Given the description of an element on the screen output the (x, y) to click on. 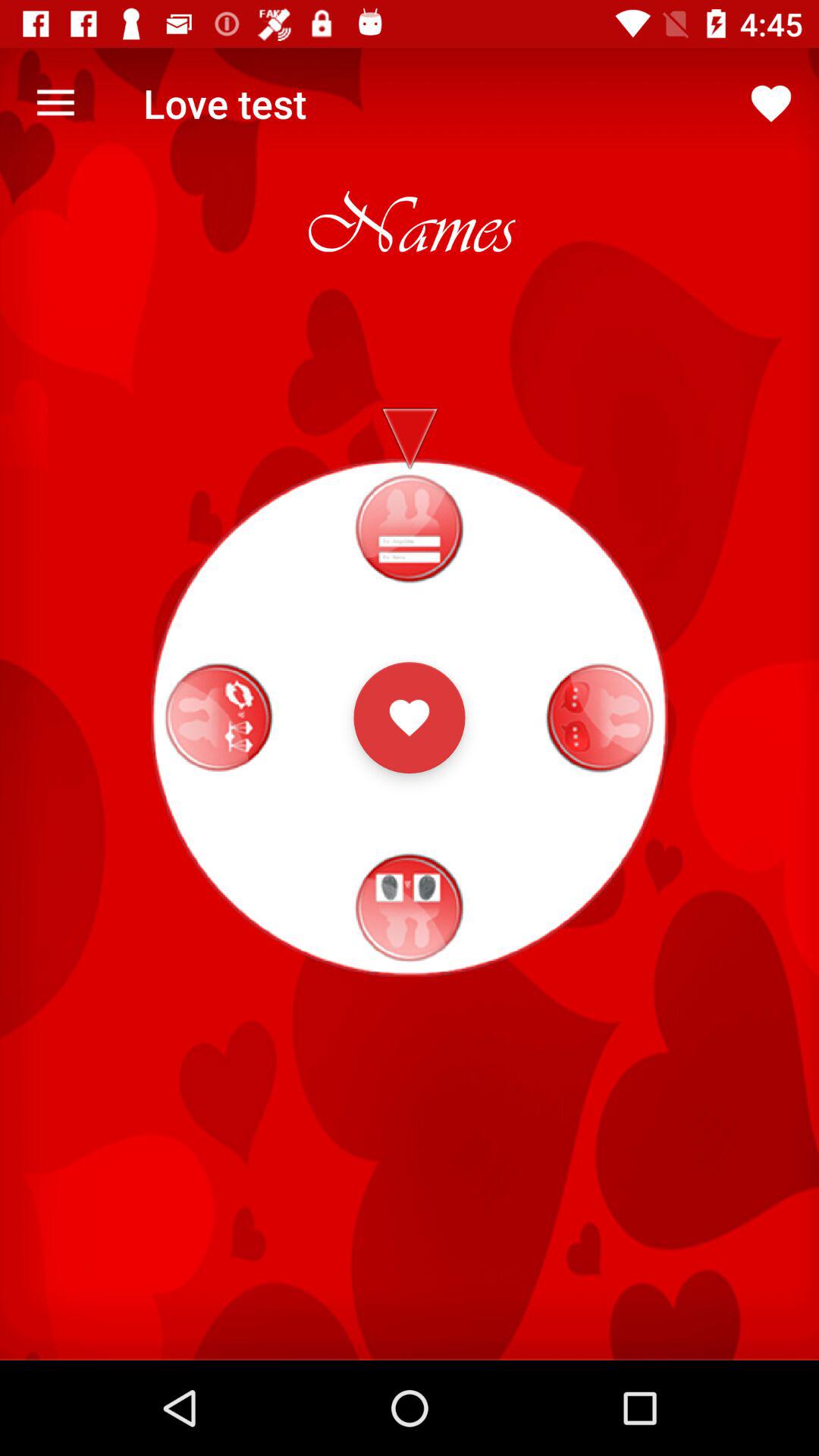
enter in application (409, 717)
